Given the description of an element on the screen output the (x, y) to click on. 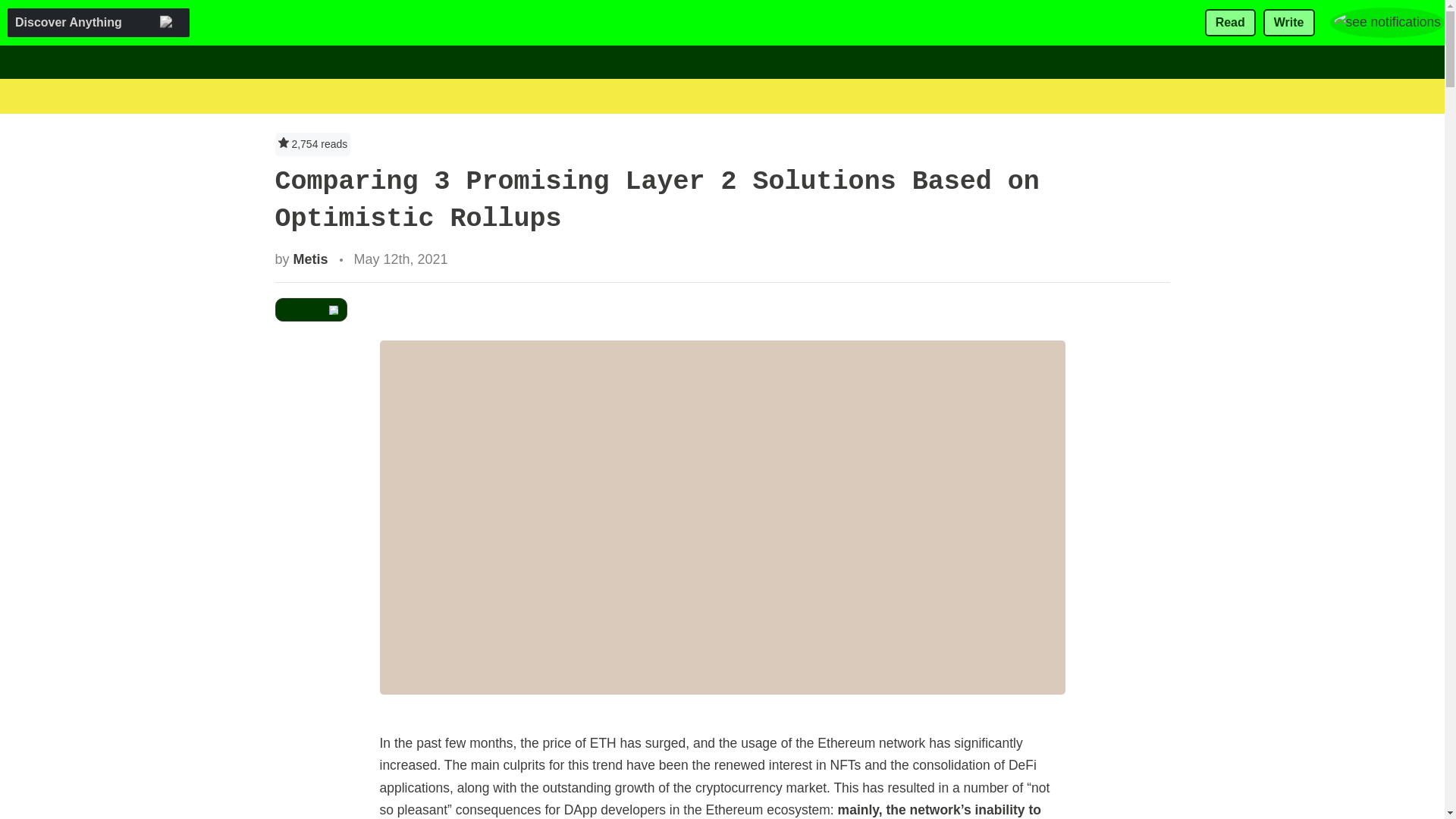
Metis (311, 258)
Read (1230, 22)
Write (1288, 22)
